Given the description of an element on the screen output the (x, y) to click on. 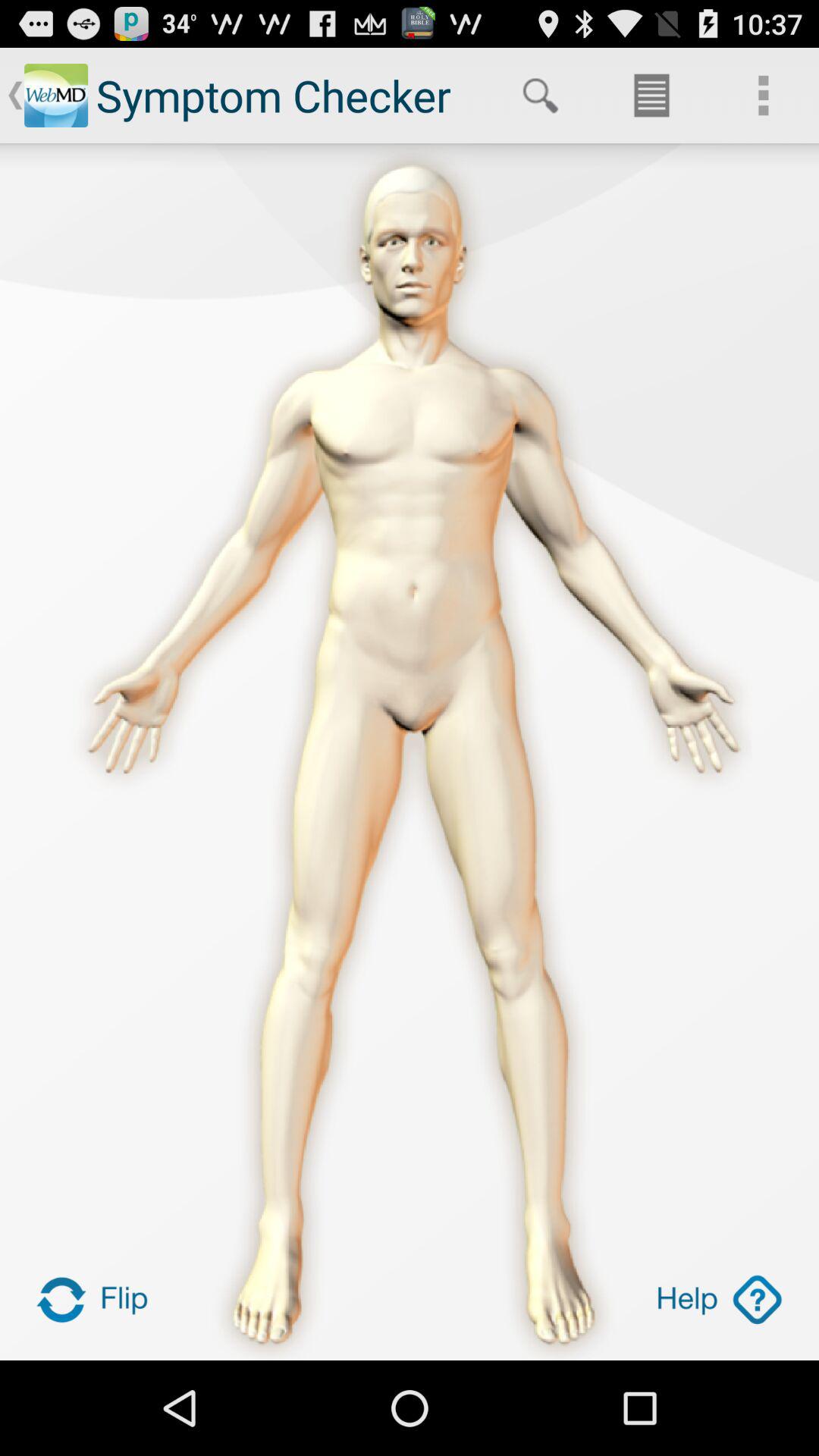
help button (719, 1299)
